Given the description of an element on the screen output the (x, y) to click on. 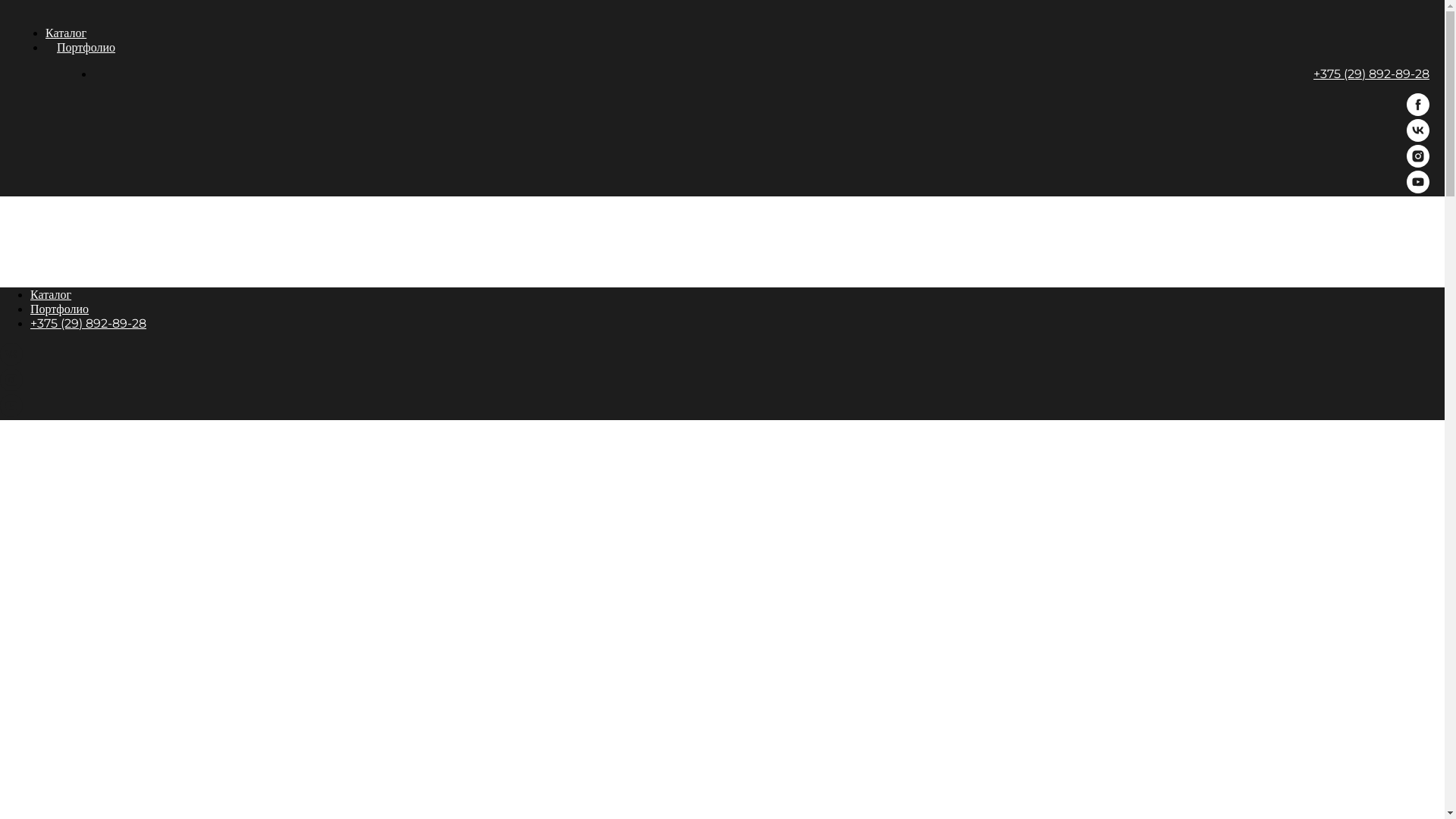
+375 (29) 892-89-28 Element type: text (88, 323)
+375 (29) 892-89-28 Element type: text (1371, 73)
